Given the description of an element on the screen output the (x, y) to click on. 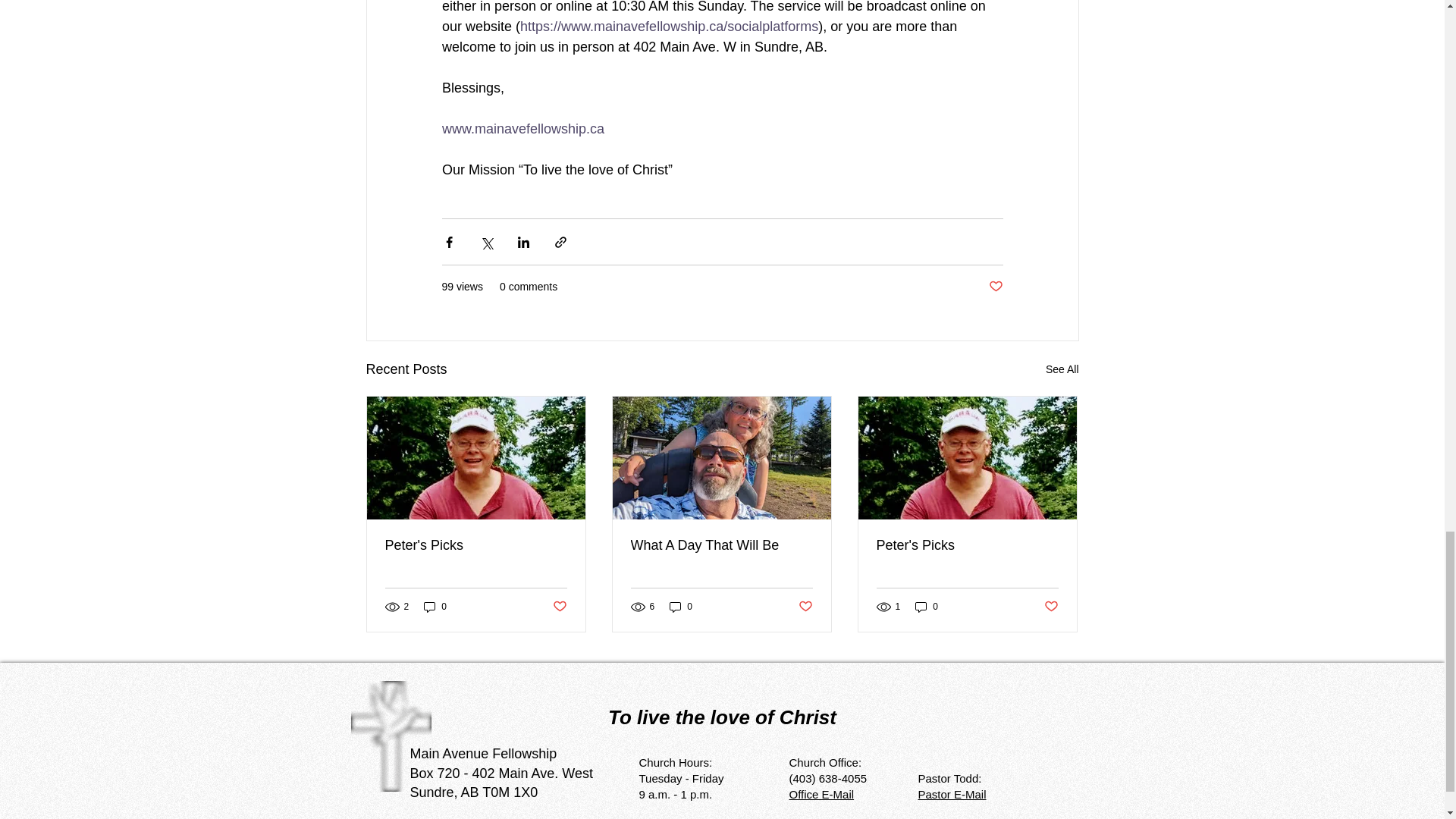
Peter's Picks (476, 545)
Peter's Picks (967, 545)
0 (435, 606)
See All (1061, 369)
Post not marked as liked (995, 286)
What A Day That Will Be  (721, 545)
0 (681, 606)
Post not marked as liked (804, 606)
www.mainavefellowship.ca (522, 128)
Post not marked as liked (1050, 606)
0 (926, 606)
Post not marked as liked (558, 606)
